Given the description of an element on the screen output the (x, y) to click on. 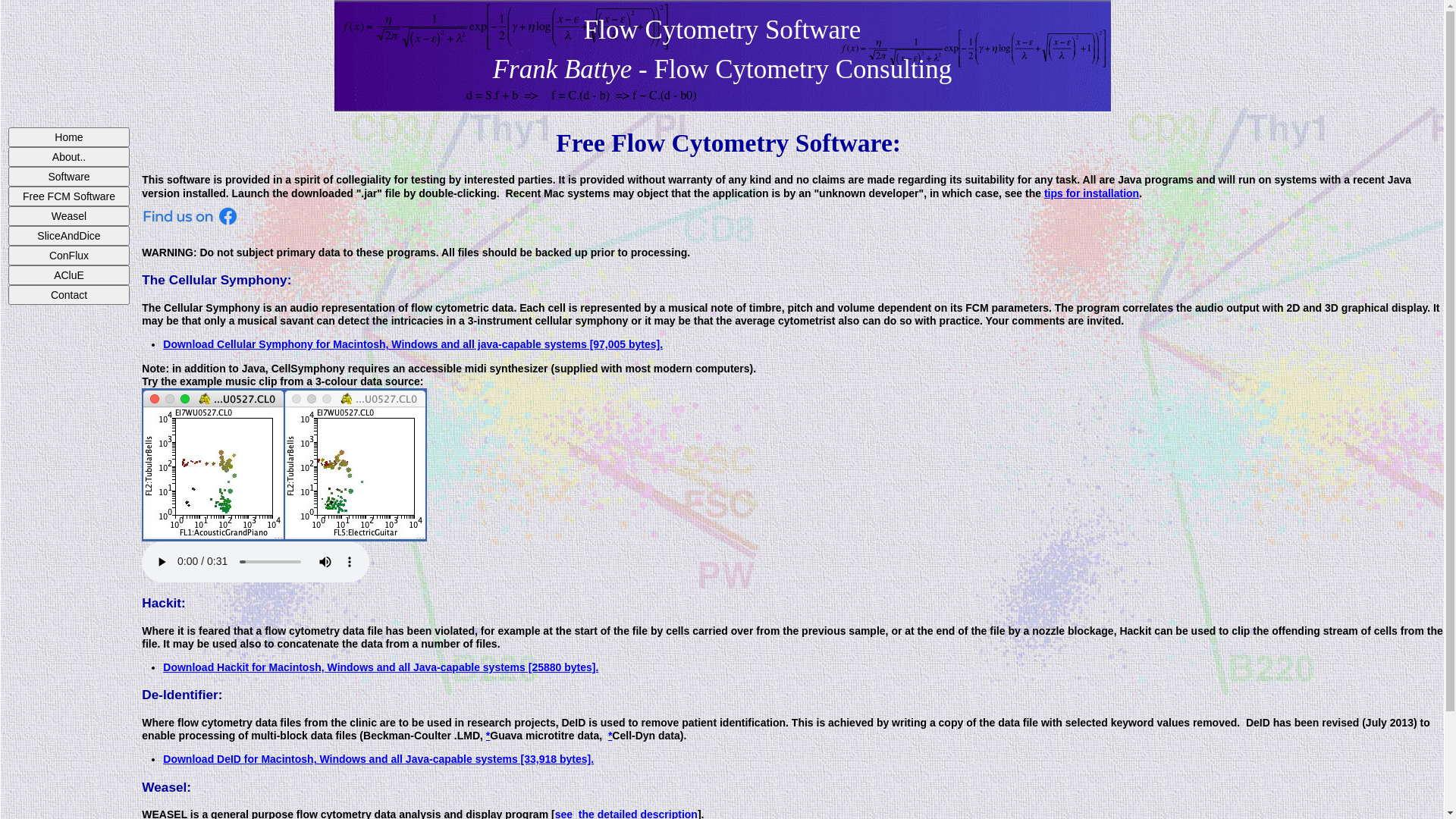
Weasel Element type: text (68, 215)
CellularSymphonyData Element type: hover (283, 464)
FindUsOnFacebook Element type: hover (192, 216)
SliceAndDice Element type: text (68, 235)
* Element type: text (487, 735)
About.. Element type: text (68, 156)
Free FCM Software Element type: text (68, 196)
ConFlux Element type: text (68, 255)
Home Element type: text (68, 137)
Software Element type: text (68, 176)
tips for installation Element type: text (1091, 193)
ACluE Element type: text (68, 275)
Contact Element type: text (68, 294)
* Element type: text (609, 735)
